Given the description of an element on the screen output the (x, y) to click on. 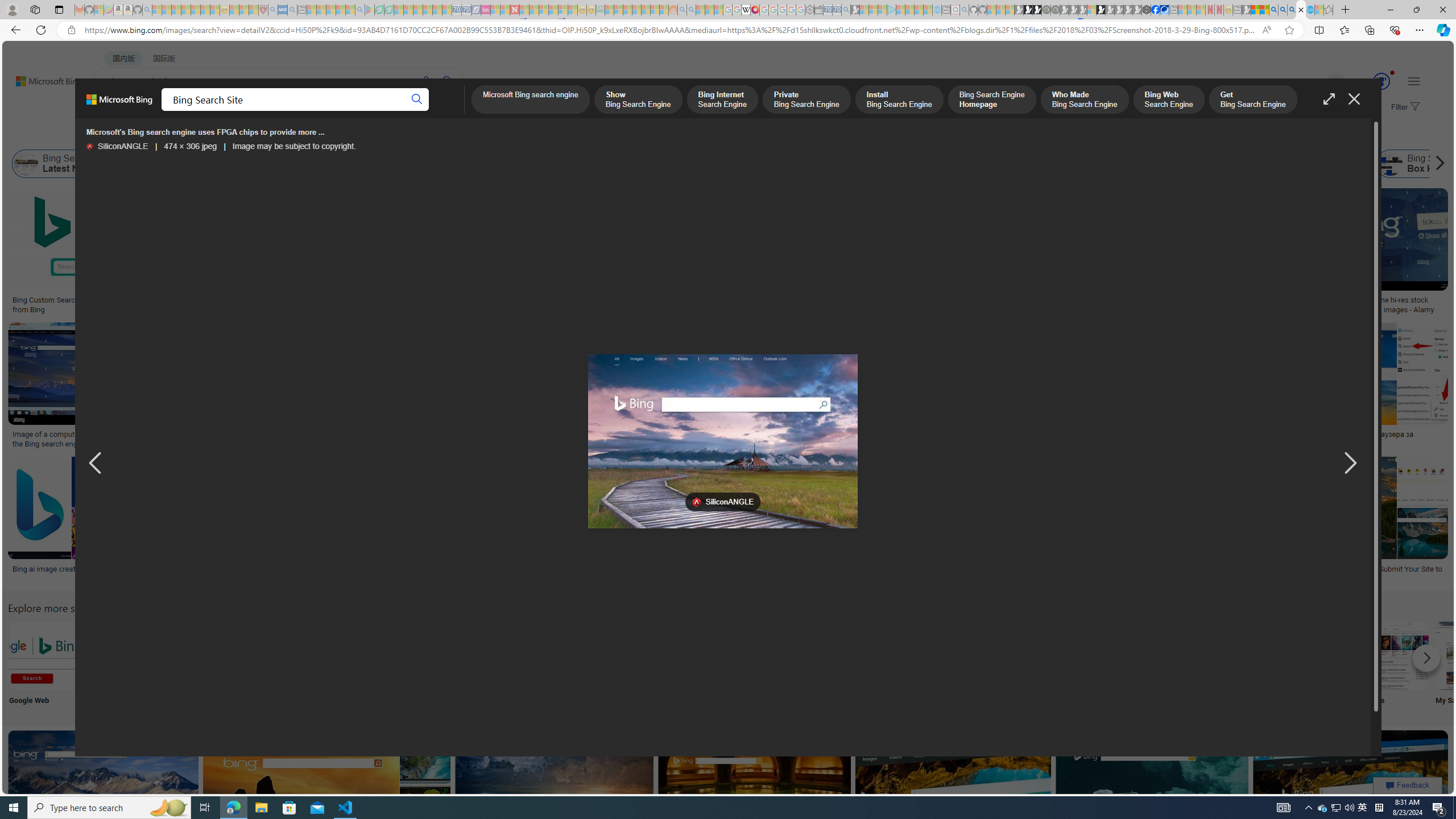
Web Searching | Computer Applications for ManagersSave (853, 521)
Microsoft Rewards 84 (1370, 81)
Favorites - Sleeping (1328, 9)
Bing Search Dark Mode Dark Mode (342, 665)
Bing Search Box History (1390, 163)
Google Web (42, 665)
FIX: Downloading proxy script message on Google ChromeSave (529, 521)
